Given the description of an element on the screen output the (x, y) to click on. 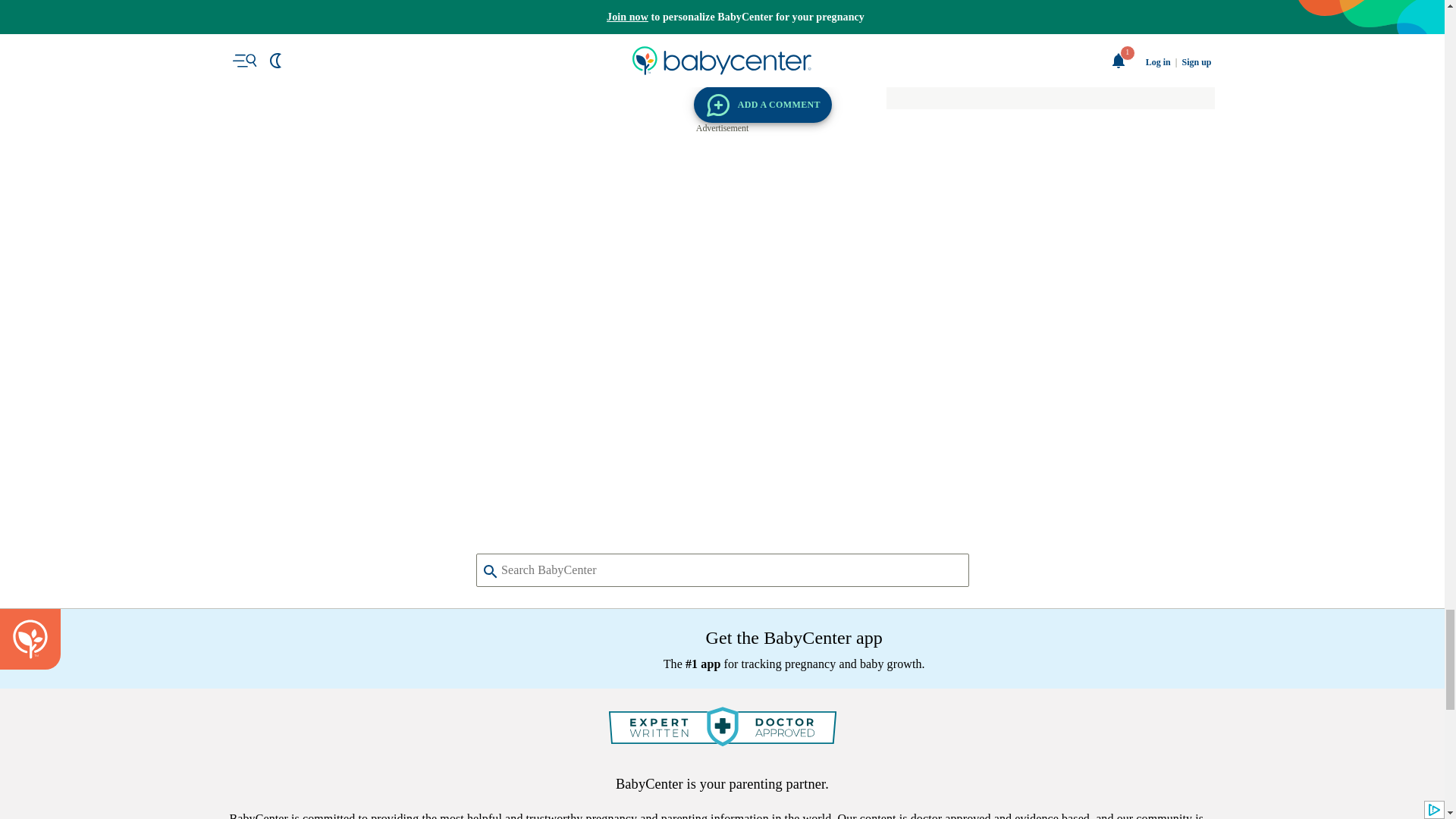
1 (541, 35)
Go to page number (541, 35)
